Given the description of an element on the screen output the (x, y) to click on. 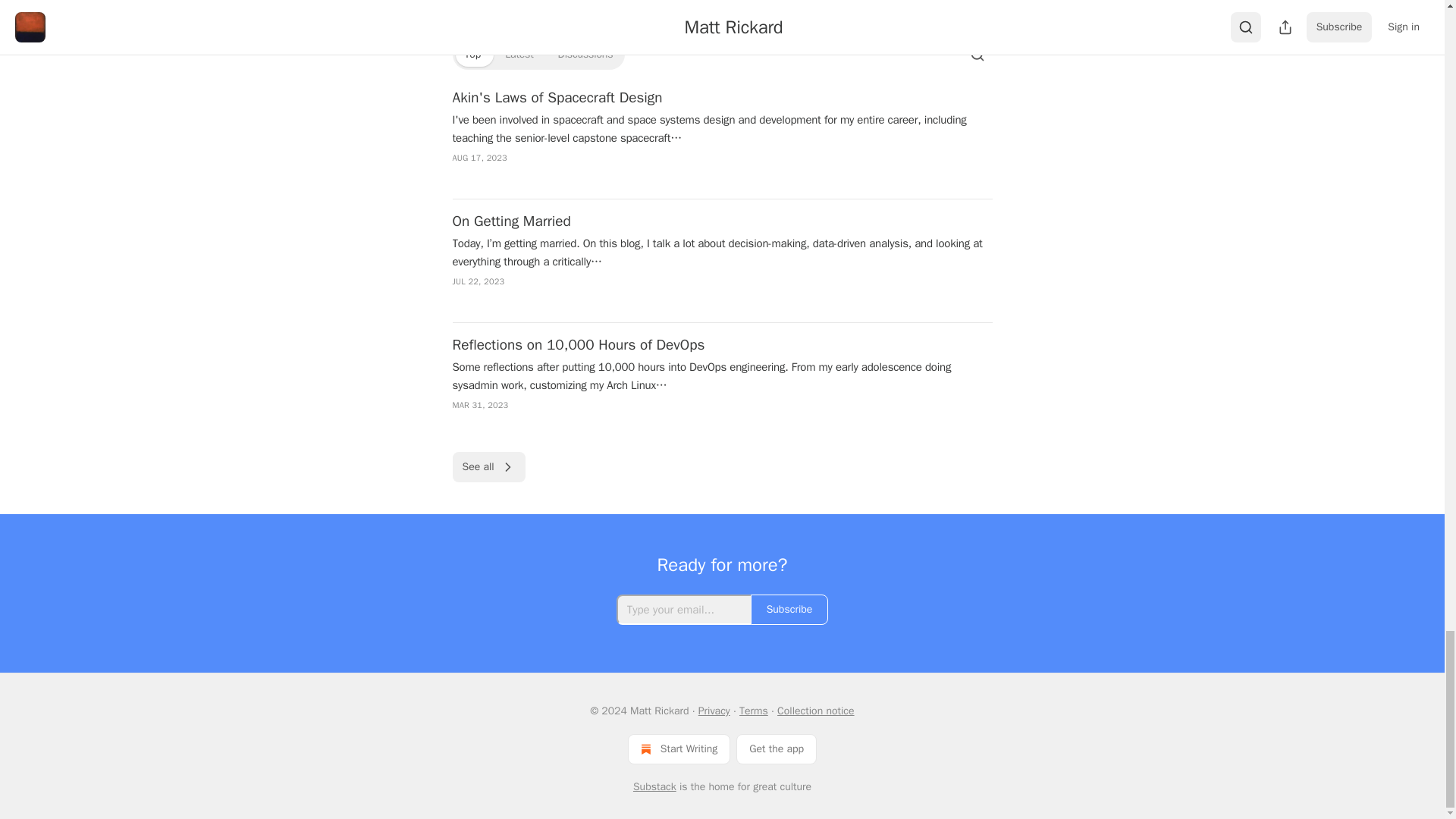
Top (471, 54)
Discussions (585, 54)
Latest (518, 54)
